Given the description of an element on the screen output the (x, y) to click on. 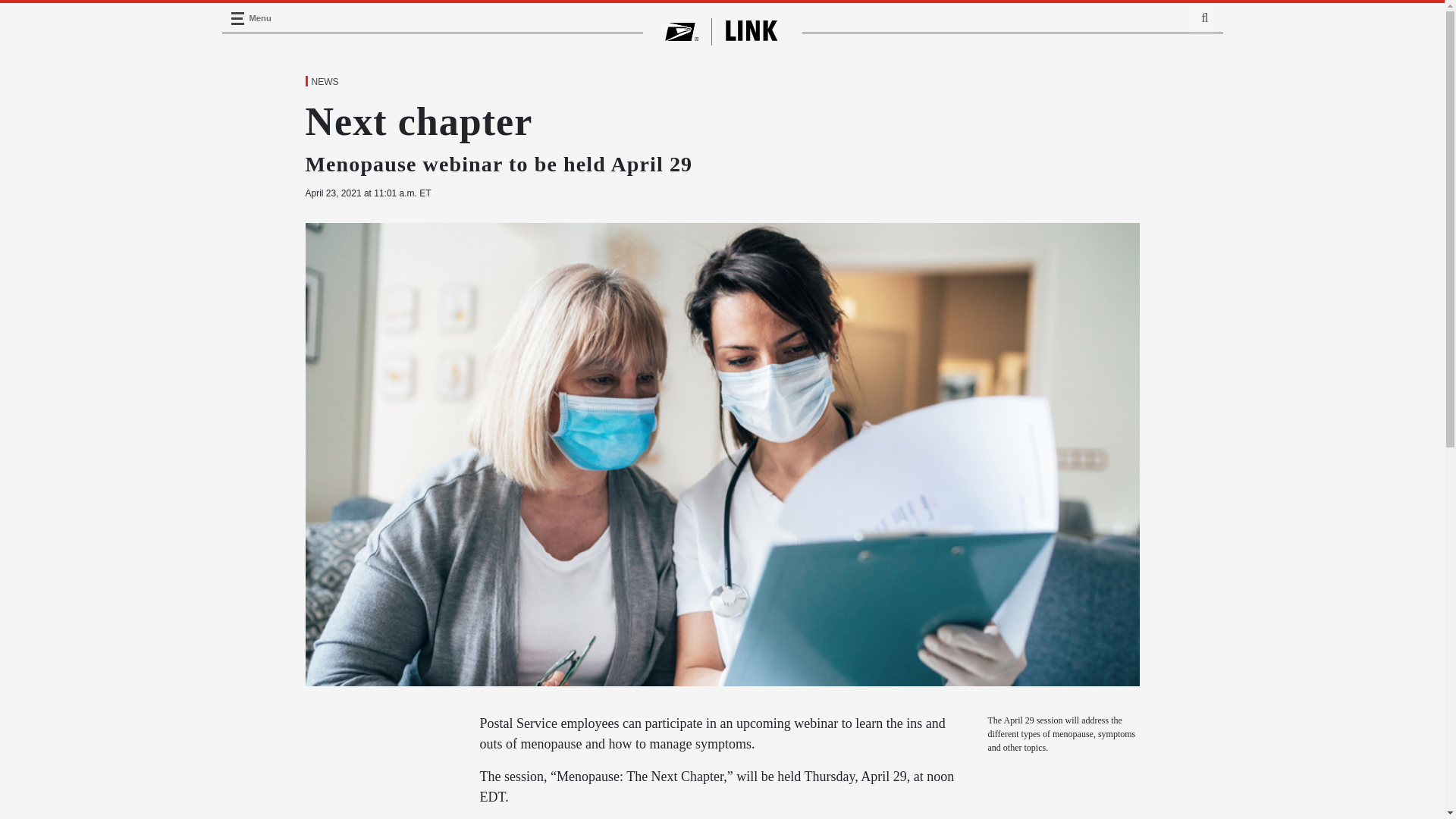
NEWS (323, 81)
Menu (237, 18)
